Given the description of an element on the screen output the (x, y) to click on. 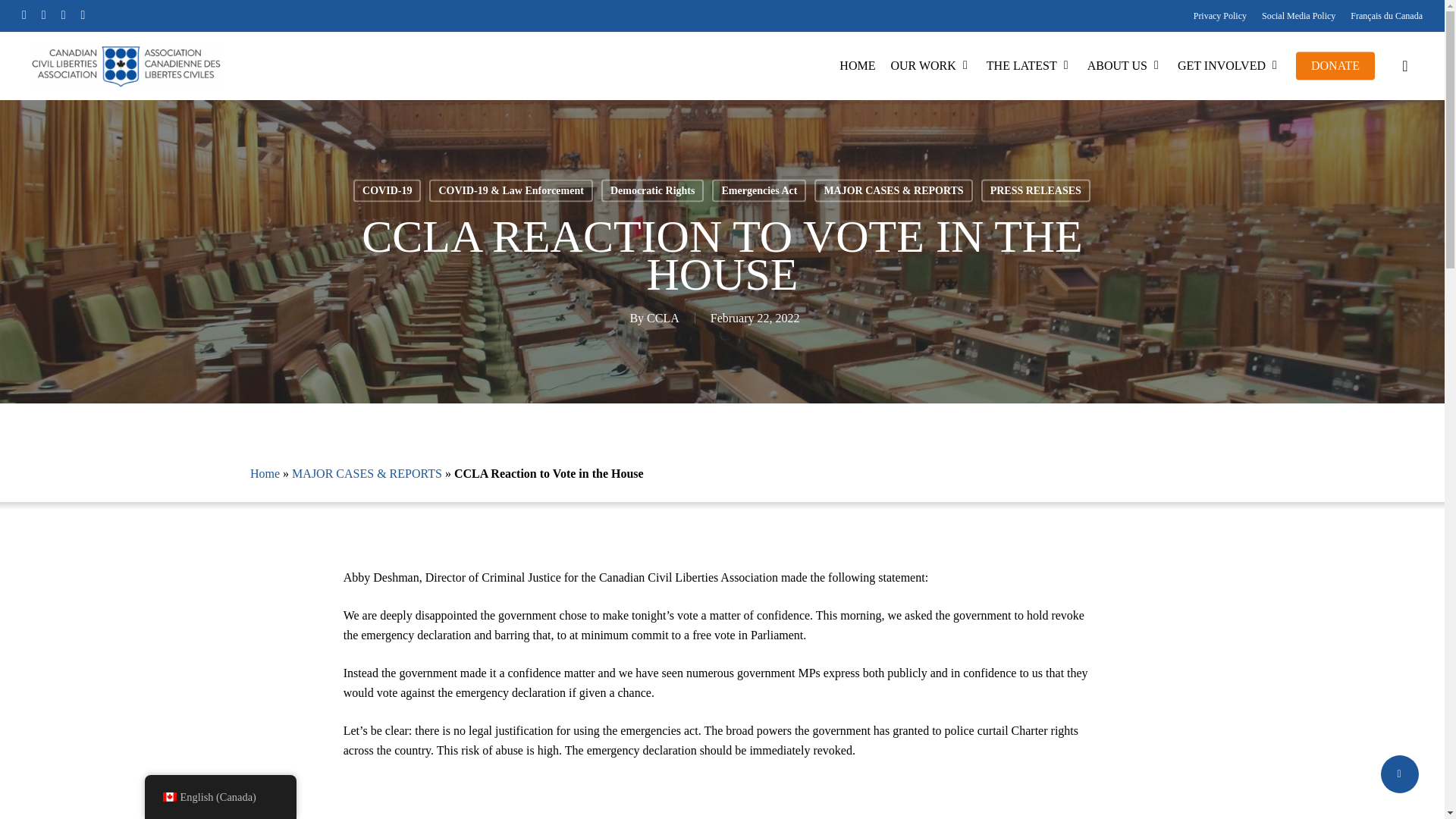
OUR WORK (930, 66)
HOME (857, 66)
Posts by CCLA (662, 317)
Privacy Policy (1219, 15)
Social Media Policy (1298, 15)
